Given the description of an element on the screen output the (x, y) to click on. 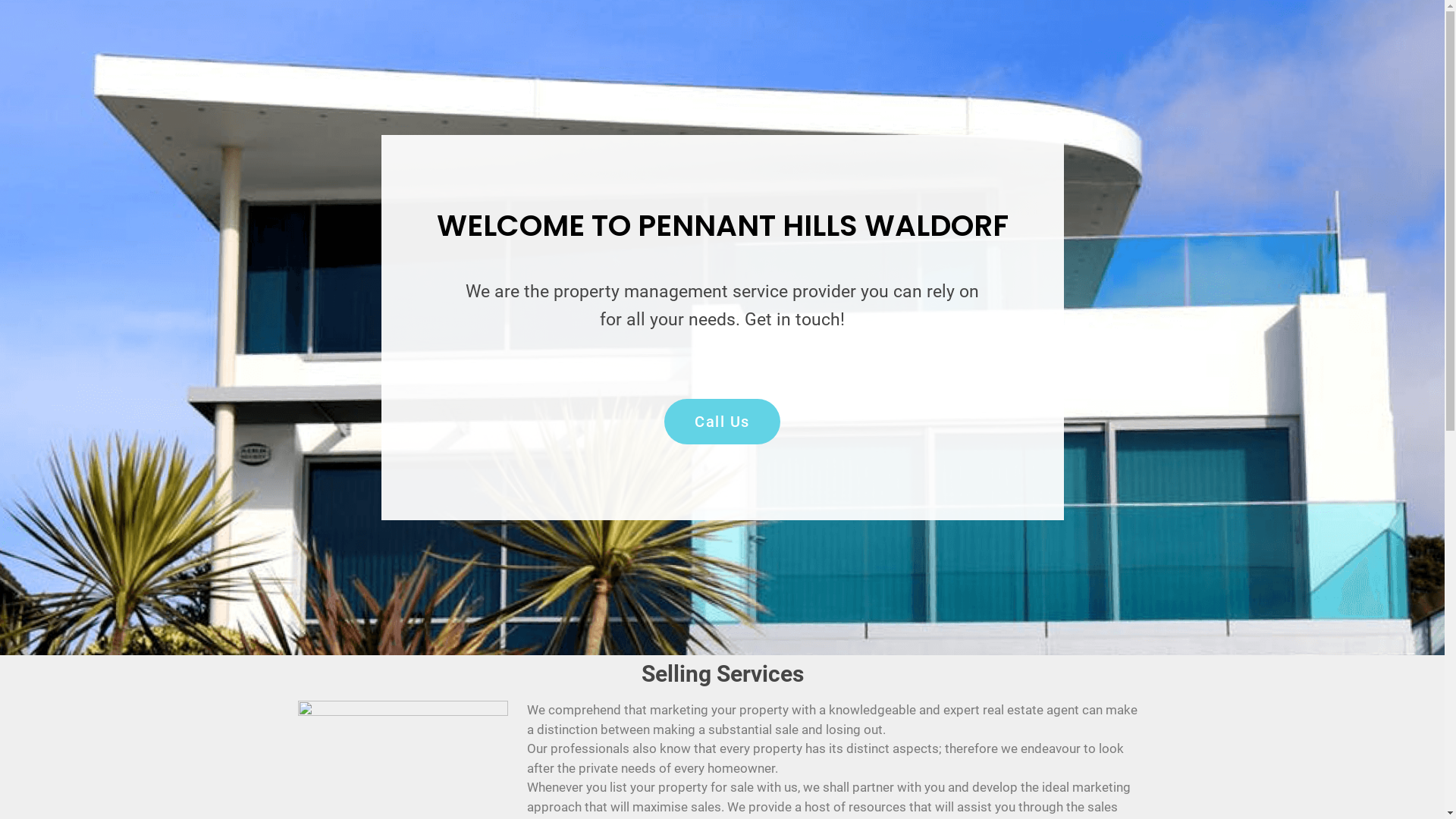
Call Us Element type: text (722, 421)
